Given the description of an element on the screen output the (x, y) to click on. 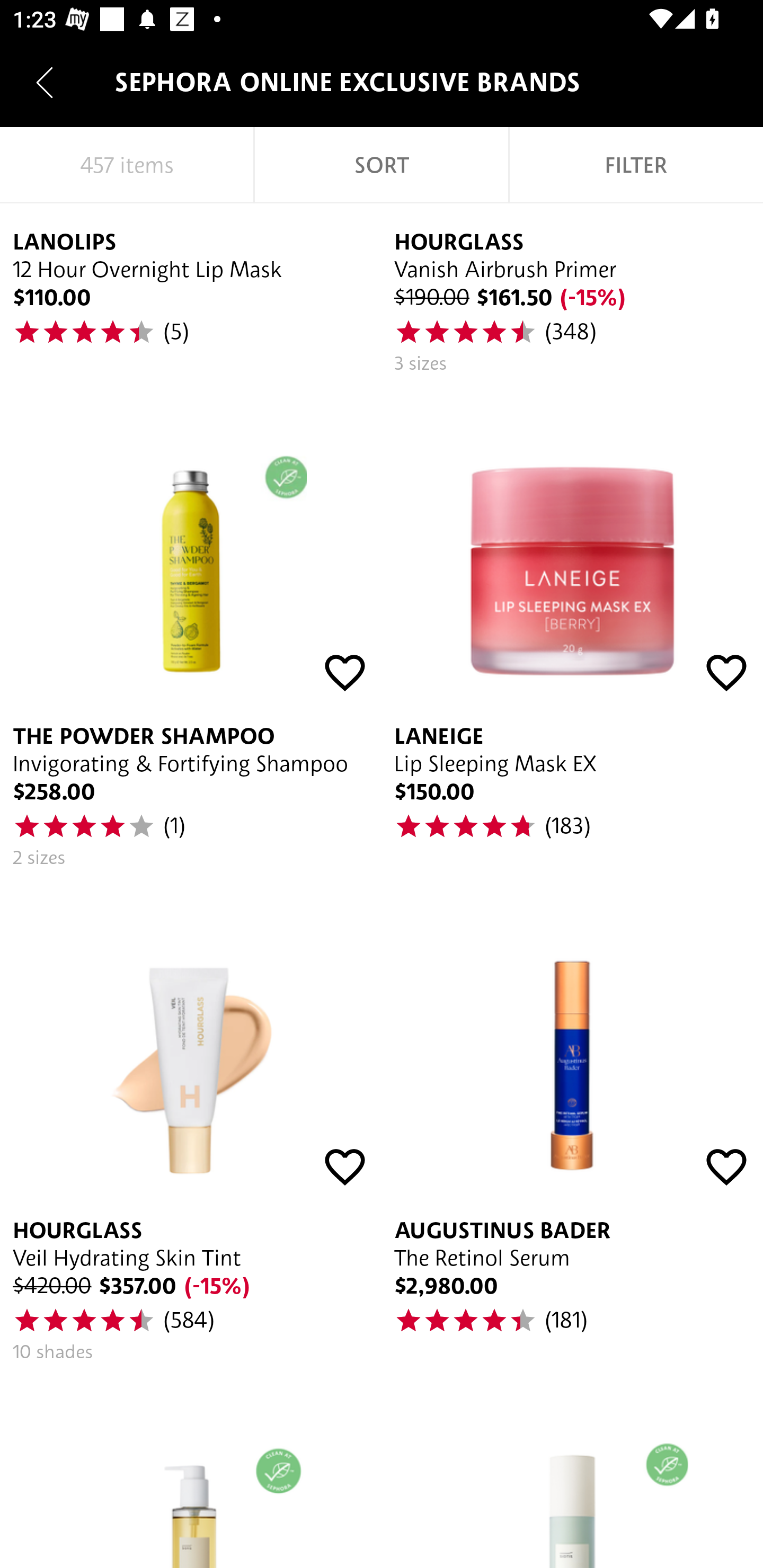
Navigate up (44, 82)
SORT (381, 165)
FILTER (636, 165)
LANEIGE Lip Sleeping Mask EX $150.00 47.0 (183) (572, 634)
